Given the description of an element on the screen output the (x, y) to click on. 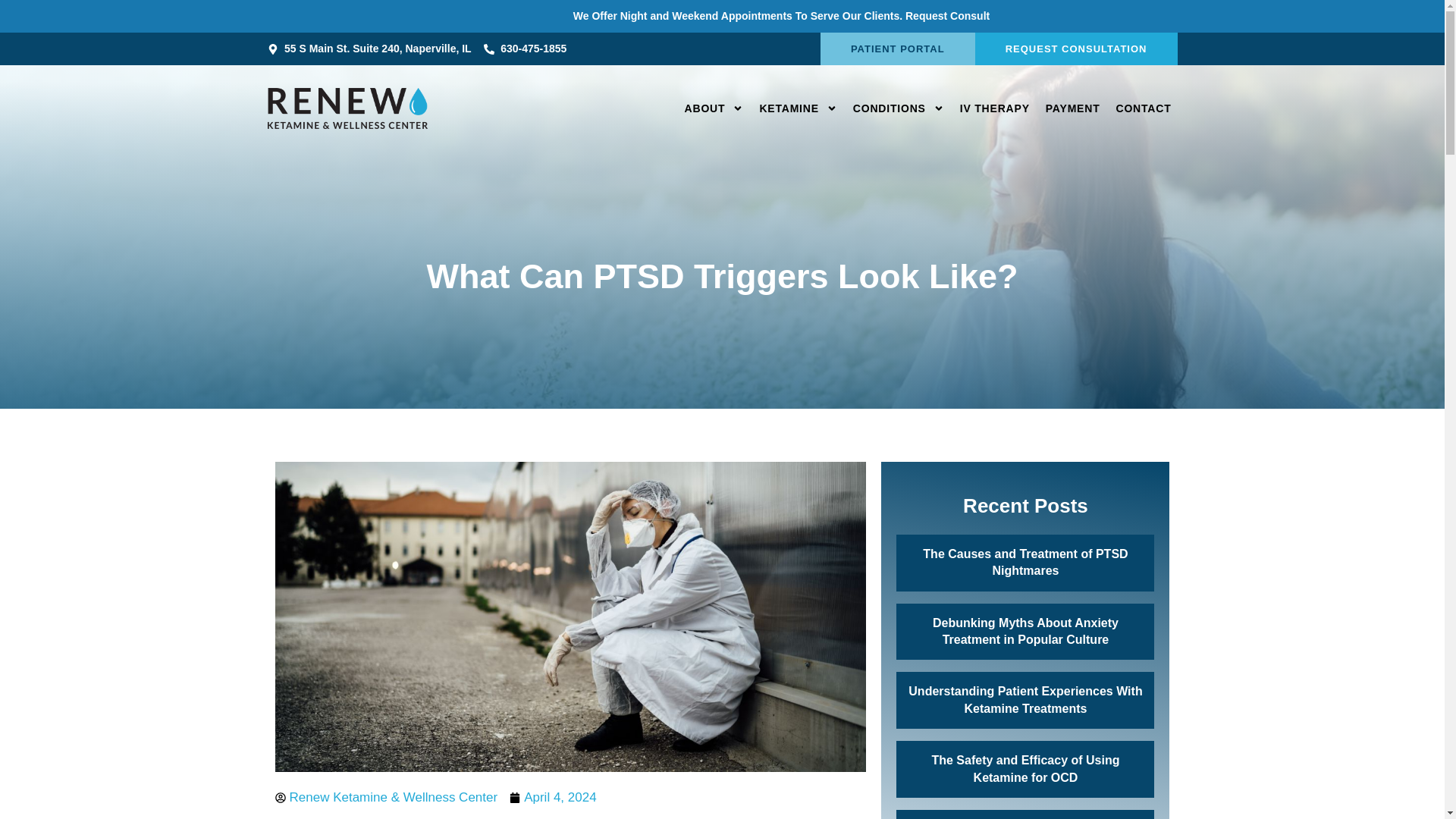
55 S Main St. Suite 240, Naperville, IL (368, 48)
ABOUT (713, 108)
PAYMENT (1072, 108)
KETAMINE (797, 108)
IV THERAPY (994, 108)
CONDITIONS (898, 108)
REQUEST CONSULTATION (1076, 48)
PATIENT PORTAL (897, 48)
CONTACT (1143, 108)
